Given the description of an element on the screen output the (x, y) to click on. 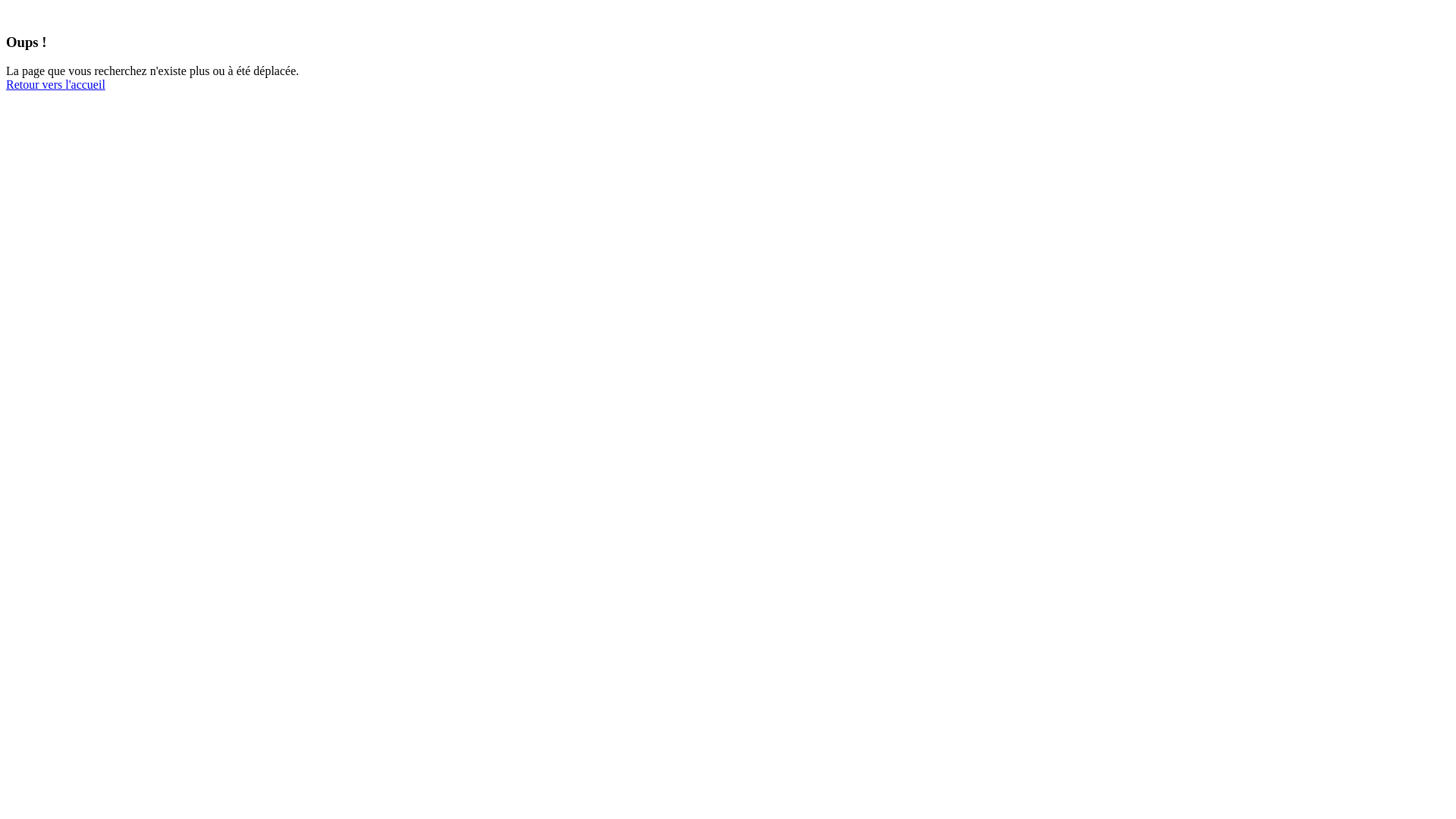
Retour vers l'accueil Element type: text (55, 84)
